Given the description of an element on the screen output the (x, y) to click on. 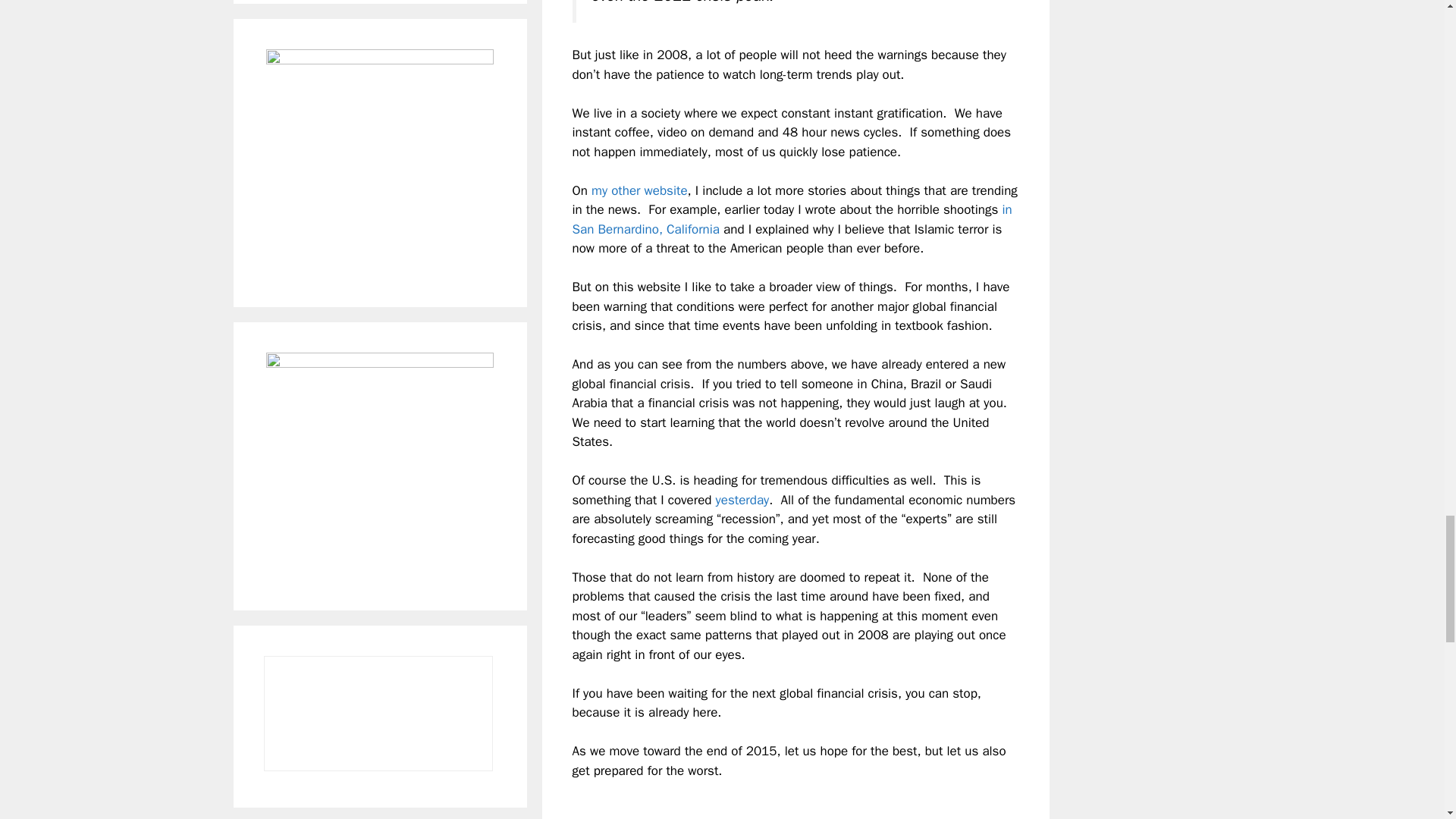
in San Bernardino, California (791, 219)
yesterday (743, 499)
my other website (639, 190)
